Given the description of an element on the screen output the (x, y) to click on. 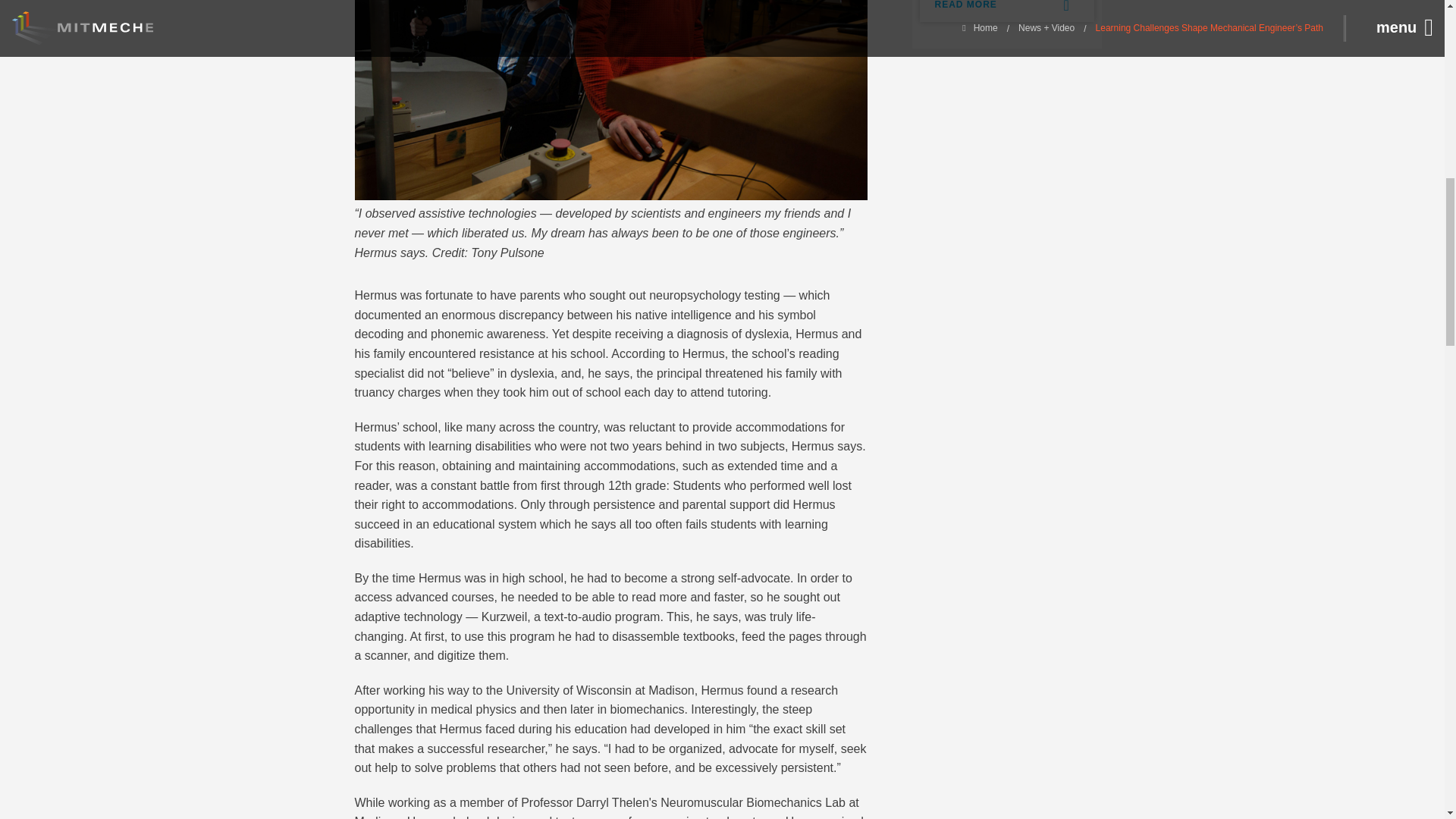
James in the lab (611, 100)
